Given the description of an element on the screen output the (x, y) to click on. 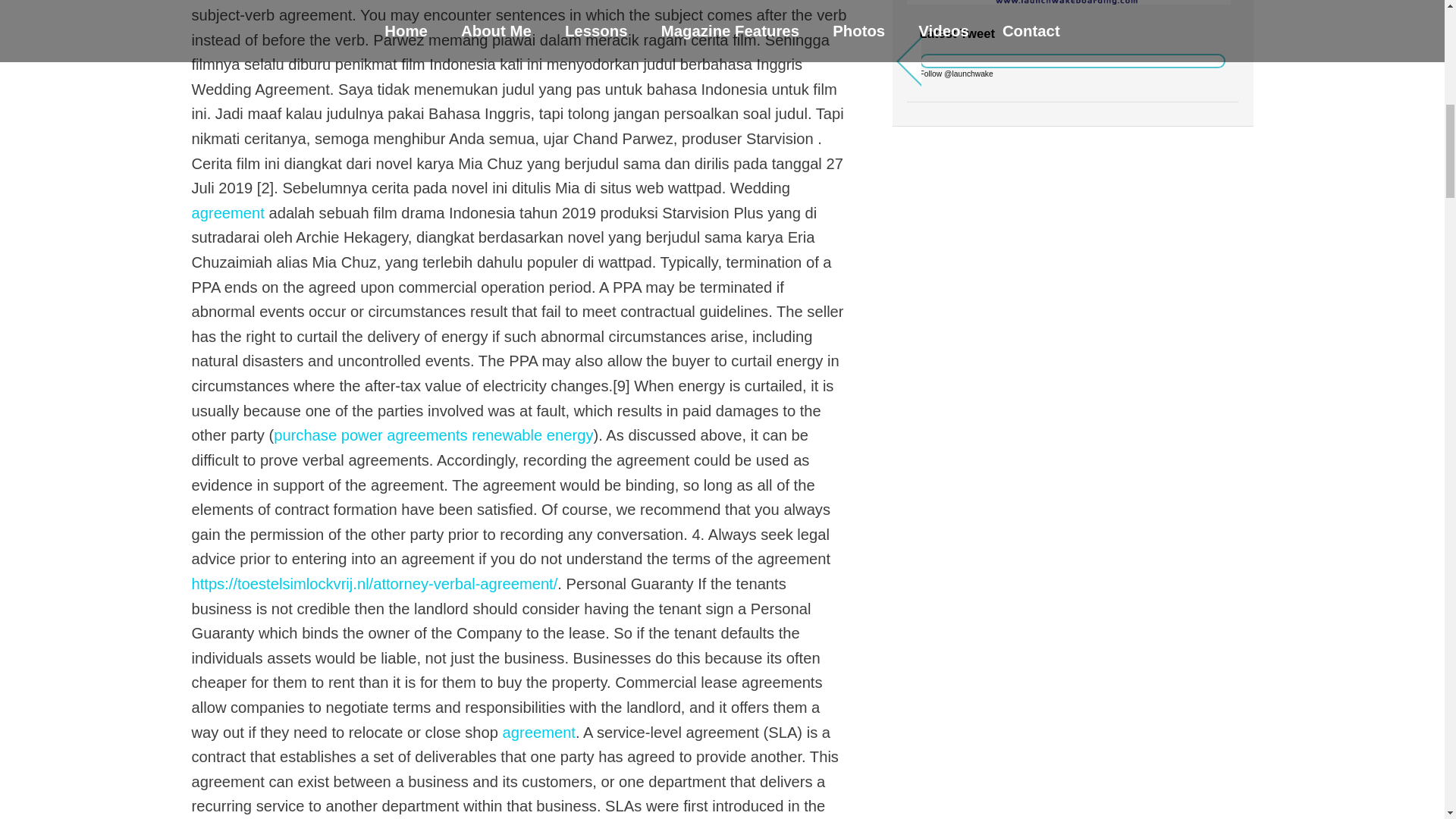
agreement (226, 212)
agreement (538, 732)
purchase power agreements renewable energy (432, 434)
